Given the description of an element on the screen output the (x, y) to click on. 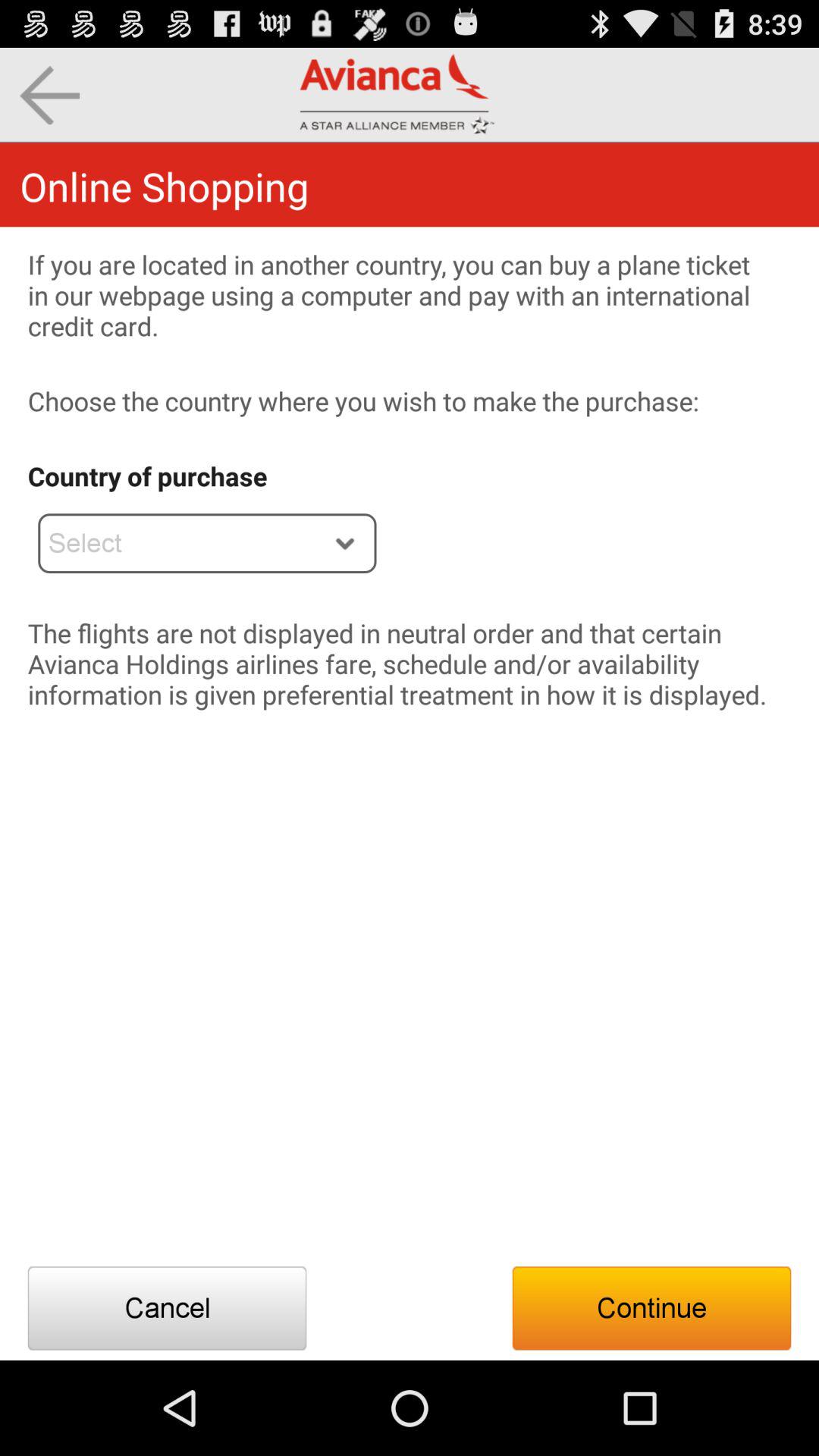
tap select item (207, 543)
